Given the description of an element on the screen output the (x, y) to click on. 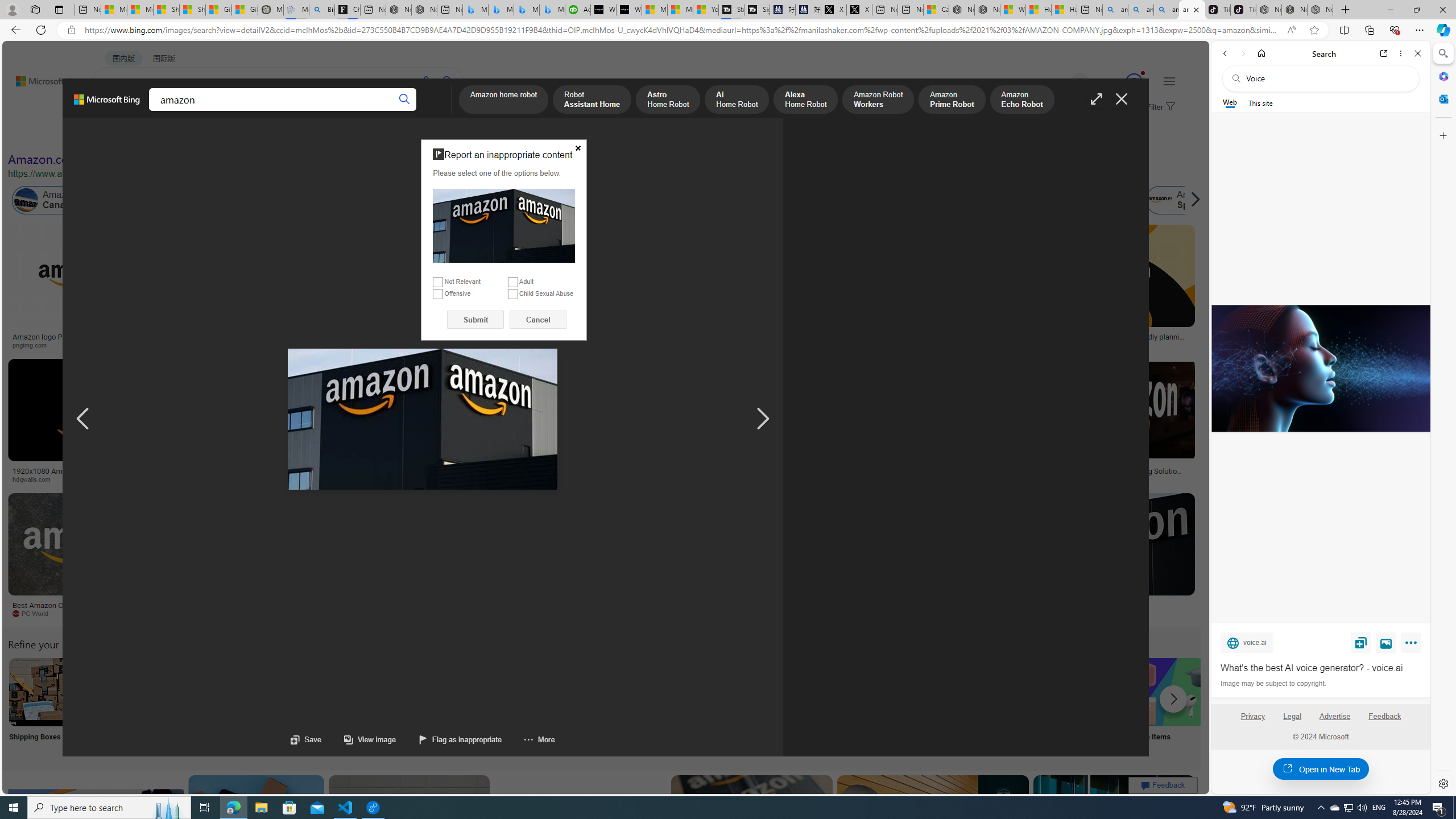
MAPS (397, 111)
Prime Shopping Online (944, 706)
Amazon Visa Card Login (1093, 691)
Ai Home Robot (737, 100)
Best Amazon Cyber Monday deals 2019 | PCWorld (82, 608)
Adult (512, 282)
mytotalretail.com (224, 344)
Save (306, 739)
Amazon Wish List Wish List (568, 706)
Nordace Siena Pro 15 Backpack (1293, 9)
Marketplace (397, 479)
